Given the description of an element on the screen output the (x, y) to click on. 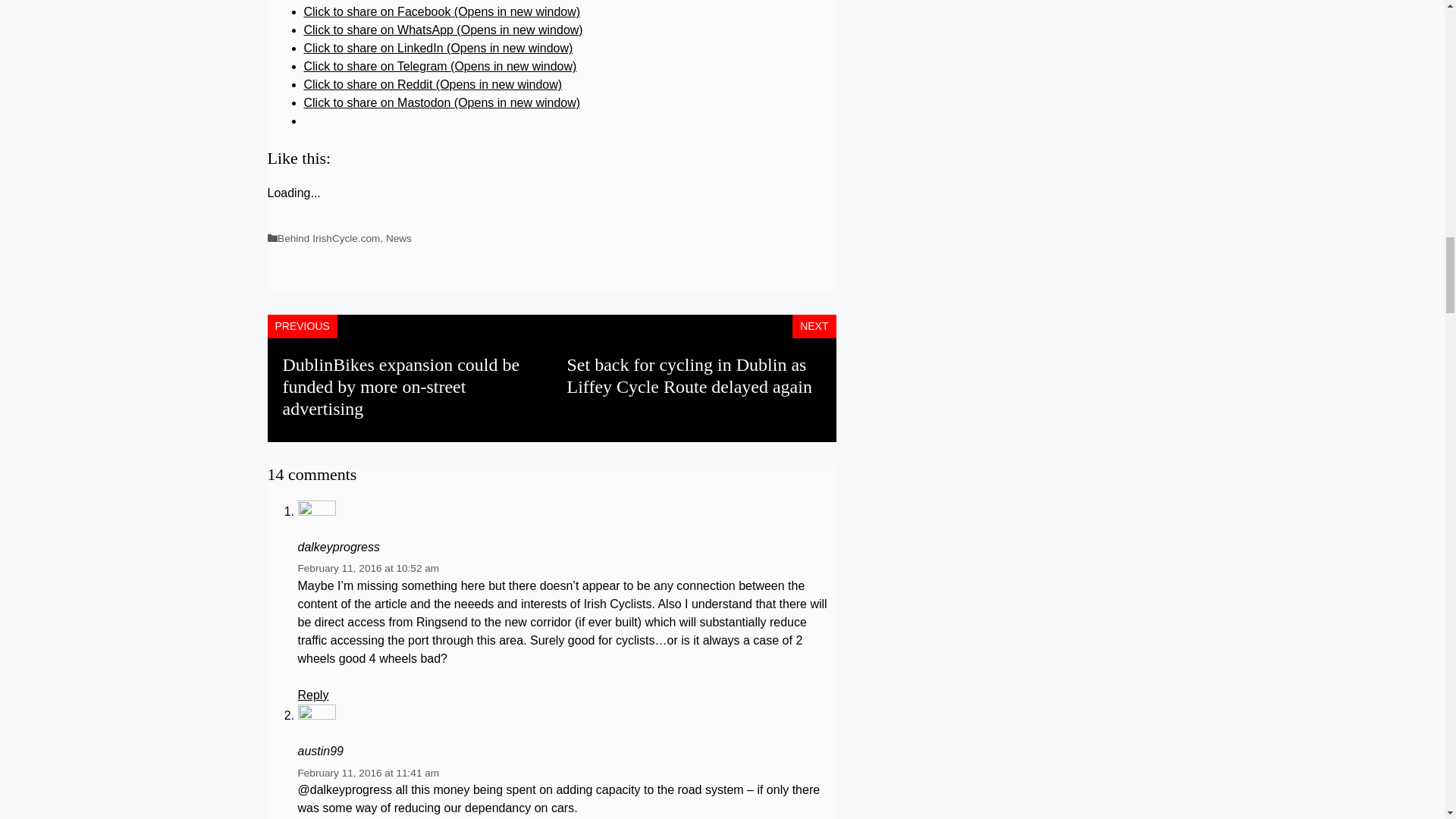
Click to share on Facebook (440, 11)
Click to share on Mastodon (440, 102)
Click to share on Telegram (439, 65)
Click to share on WhatsApp (442, 29)
Click to share on LinkedIn (437, 47)
Click to share on Reddit (432, 83)
